Given the description of an element on the screen output the (x, y) to click on. 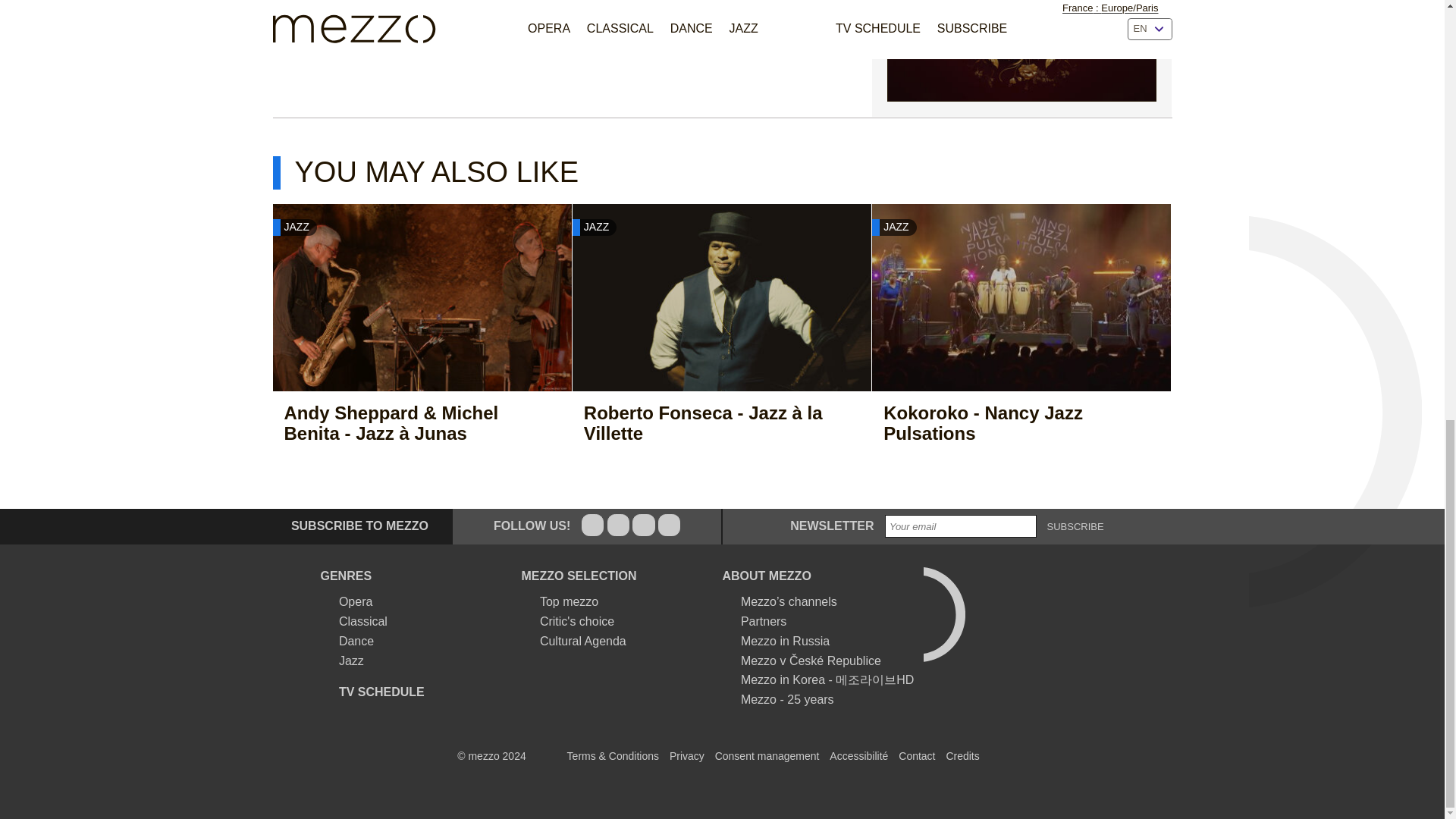
Kokoroko - Nancy Jazz Pulsations (1006, 423)
Partners (754, 621)
On Facebook (592, 525)
Jazz (341, 660)
on Instagram (642, 525)
on Youtube (668, 525)
Top mezzo (559, 601)
Classical (353, 621)
Cultural Agenda (573, 641)
on Twitter (617, 525)
